Given the description of an element on the screen output the (x, y) to click on. 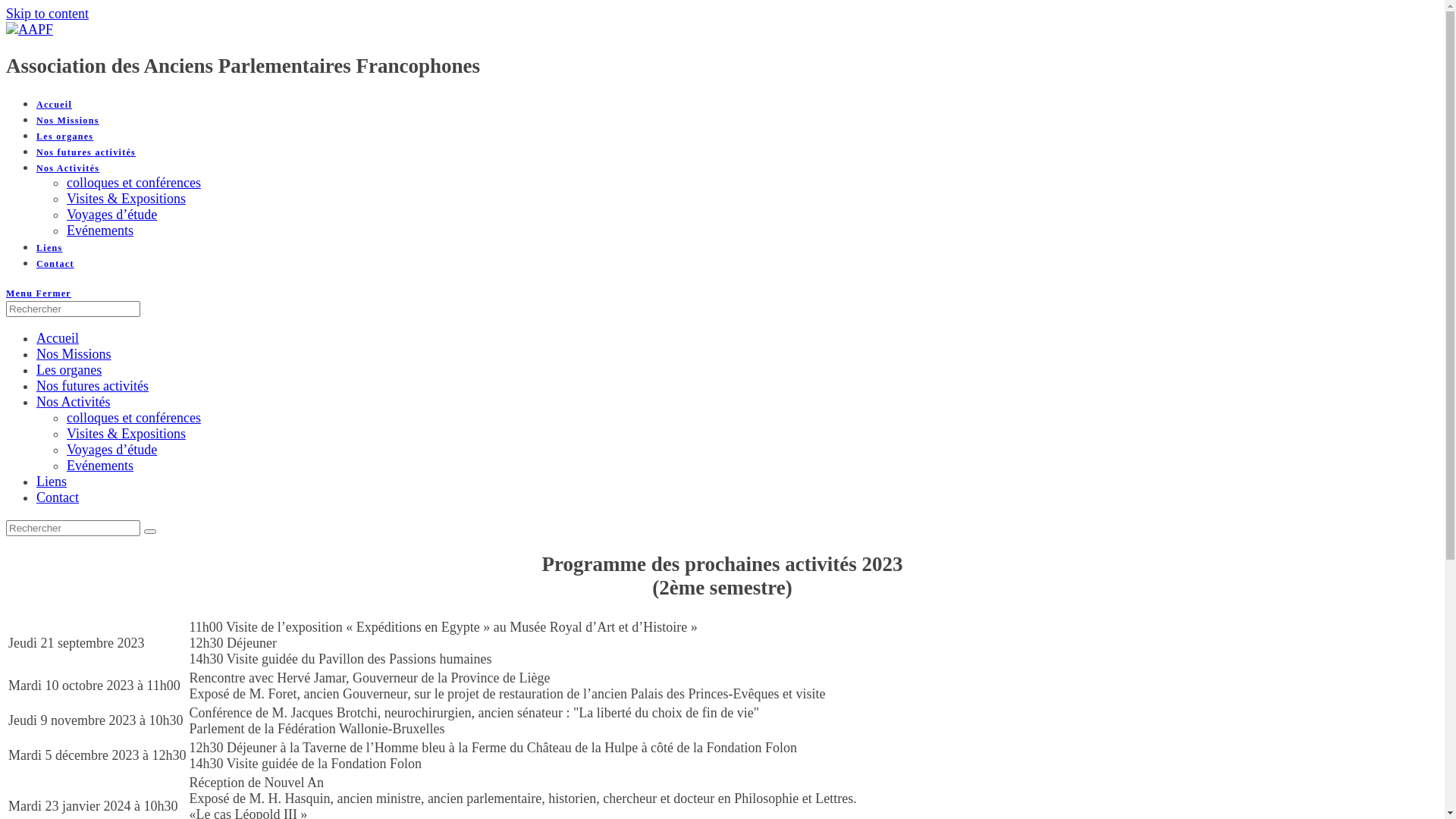
Liens Element type: text (51, 481)
Accueil Element type: text (57, 337)
Les organes Element type: text (64, 136)
Visites & Expositions Element type: text (125, 433)
Contact Element type: text (55, 263)
Nos Missions Element type: text (73, 353)
Skip to content Element type: text (47, 13)
Menu Fermer Element type: text (38, 293)
Visites & Expositions Element type: text (125, 198)
Contact Element type: text (57, 497)
Nos Missions Element type: text (67, 120)
Accueil Element type: text (54, 104)
Les organes Element type: text (68, 369)
Liens Element type: text (49, 247)
